Given the description of an element on the screen output the (x, y) to click on. 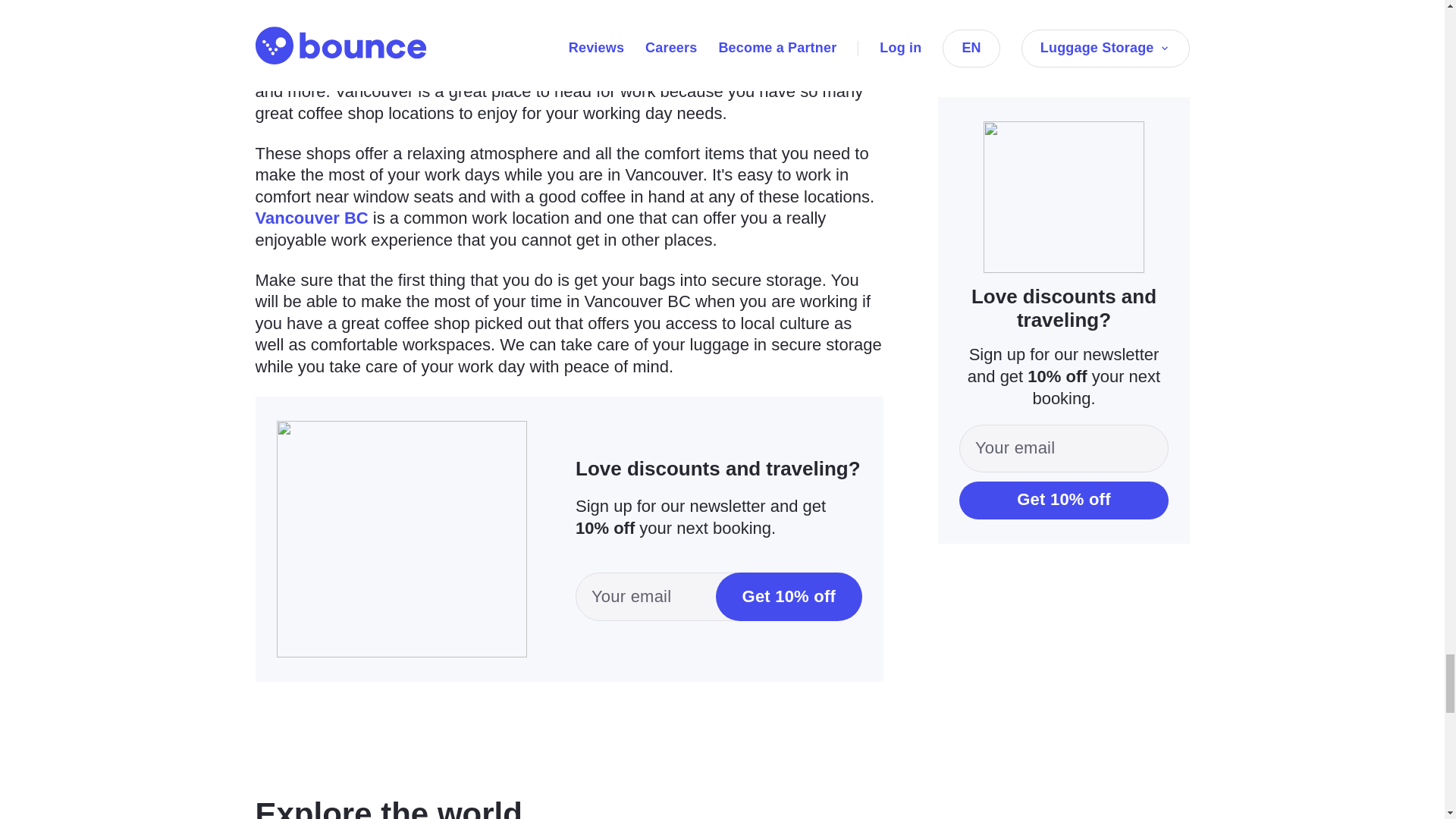
Vancouver BC (311, 217)
